Given the description of an element on the screen output the (x, y) to click on. 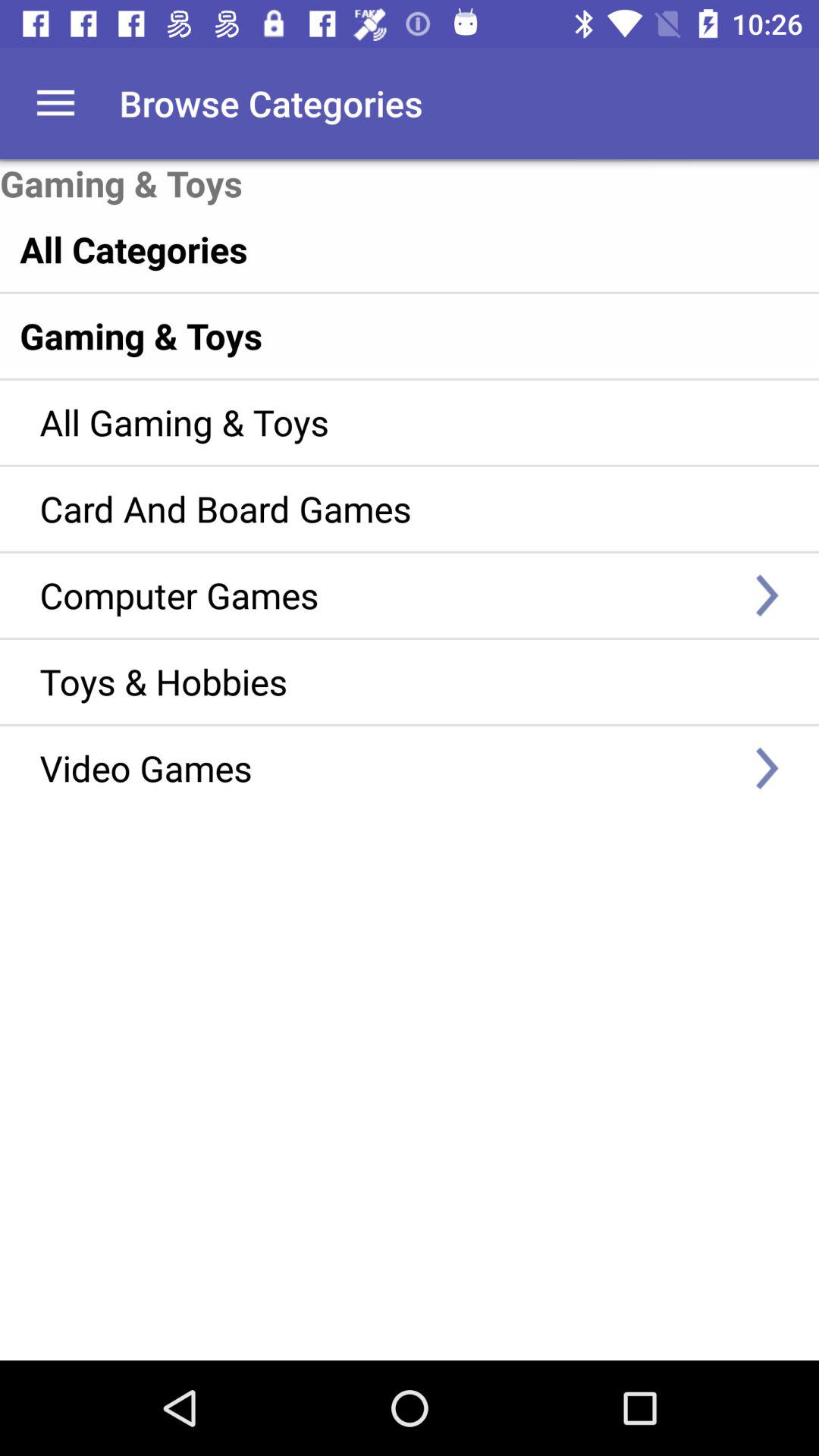
main menu (55, 103)
